Given the description of an element on the screen output the (x, y) to click on. 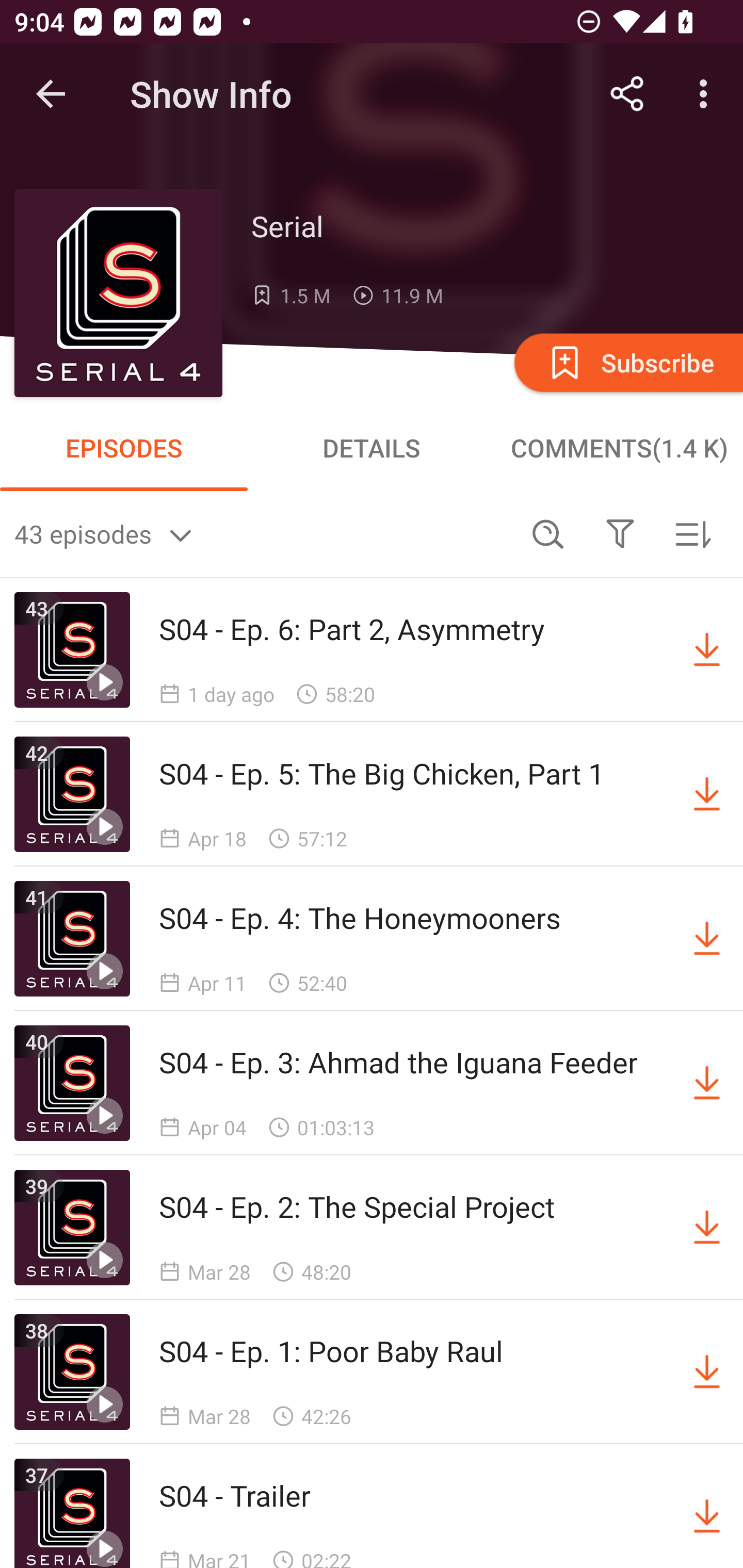
Navigate up (50, 93)
Share (626, 93)
More options (706, 93)
Subscribe (627, 361)
EPISODES (123, 447)
DETAILS (371, 447)
COMMENTS(1.4 K) (619, 447)
43 episodes  (262, 533)
 Search (547, 533)
 (619, 533)
 Sorted by newest first (692, 533)
Download (706, 649)
Download (706, 793)
Download (706, 939)
Download (706, 1083)
Download (706, 1227)
Download (706, 1371)
Download (706, 1513)
